Given the description of an element on the screen output the (x, y) to click on. 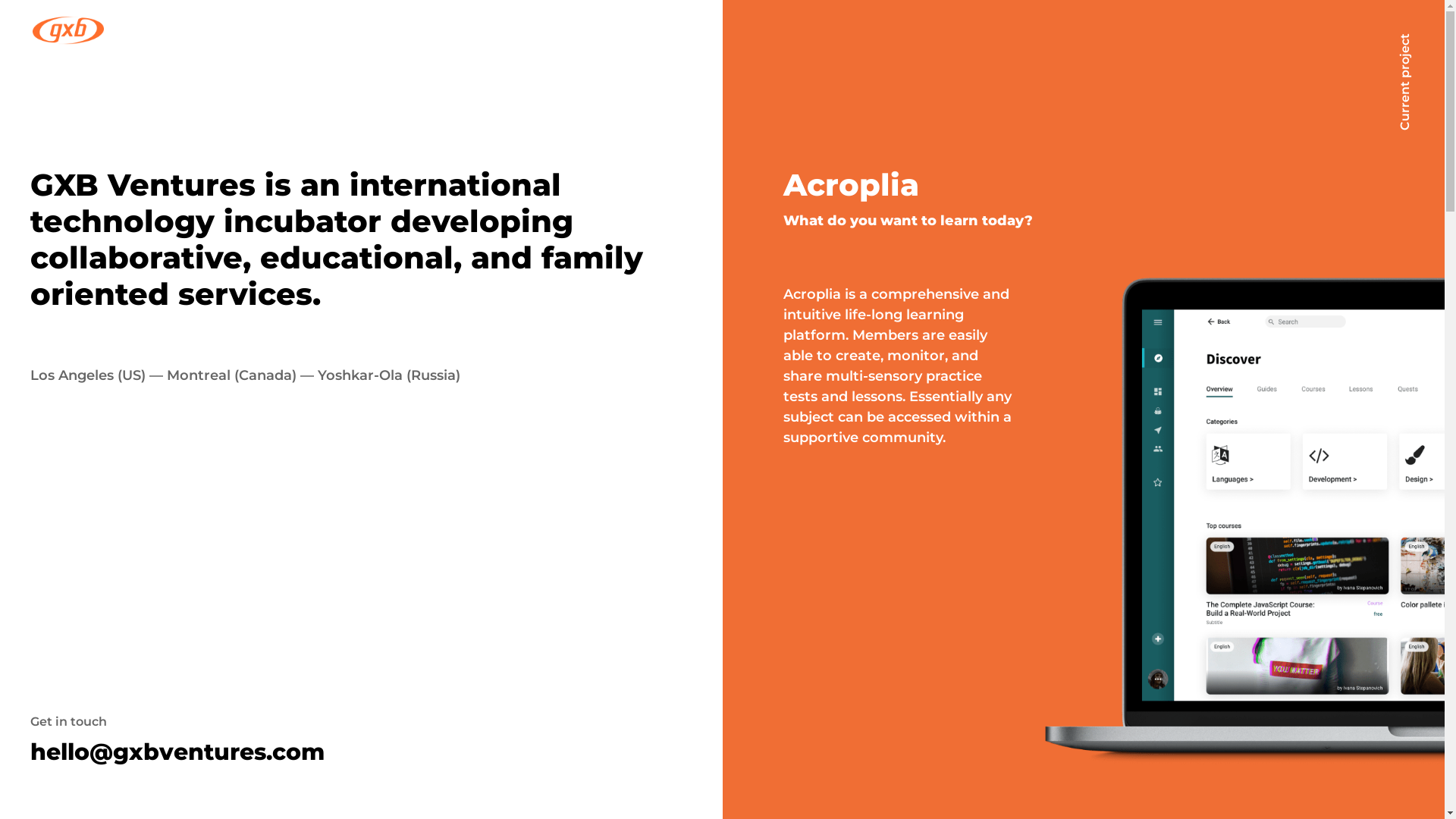
hello@gxbventures.com Element type: text (177, 751)
